Given the description of an element on the screen output the (x, y) to click on. 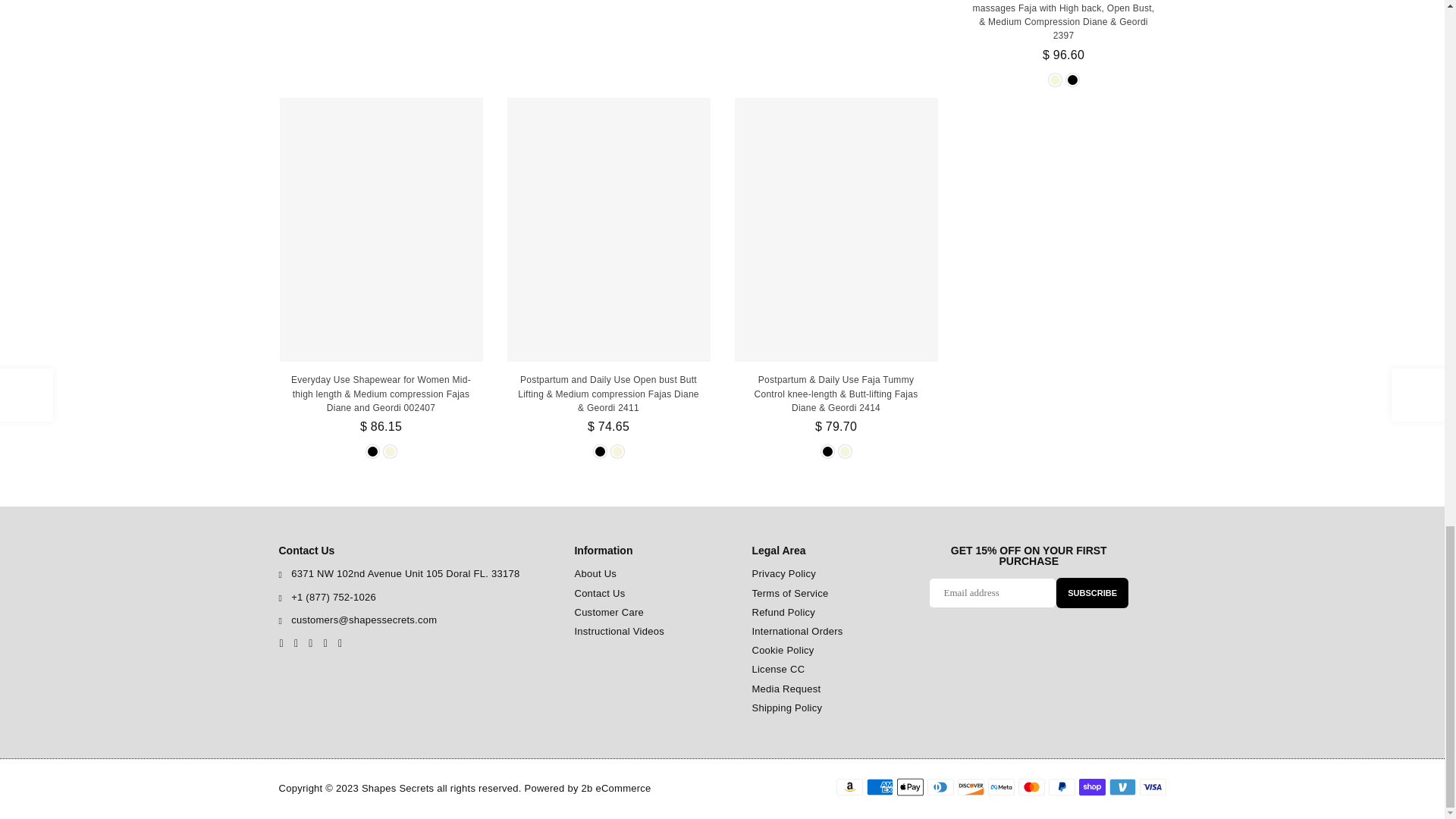
PayPal (1061, 787)
Shop Pay (1091, 787)
Apple Pay (909, 787)
Discover (970, 787)
American Express (879, 787)
Venmo (1121, 787)
Meta Pay (1000, 787)
Diners Club (939, 787)
Mastercard (1030, 787)
Visa (1152, 787)
Amazon (848, 787)
